Given the description of an element on the screen output the (x, y) to click on. 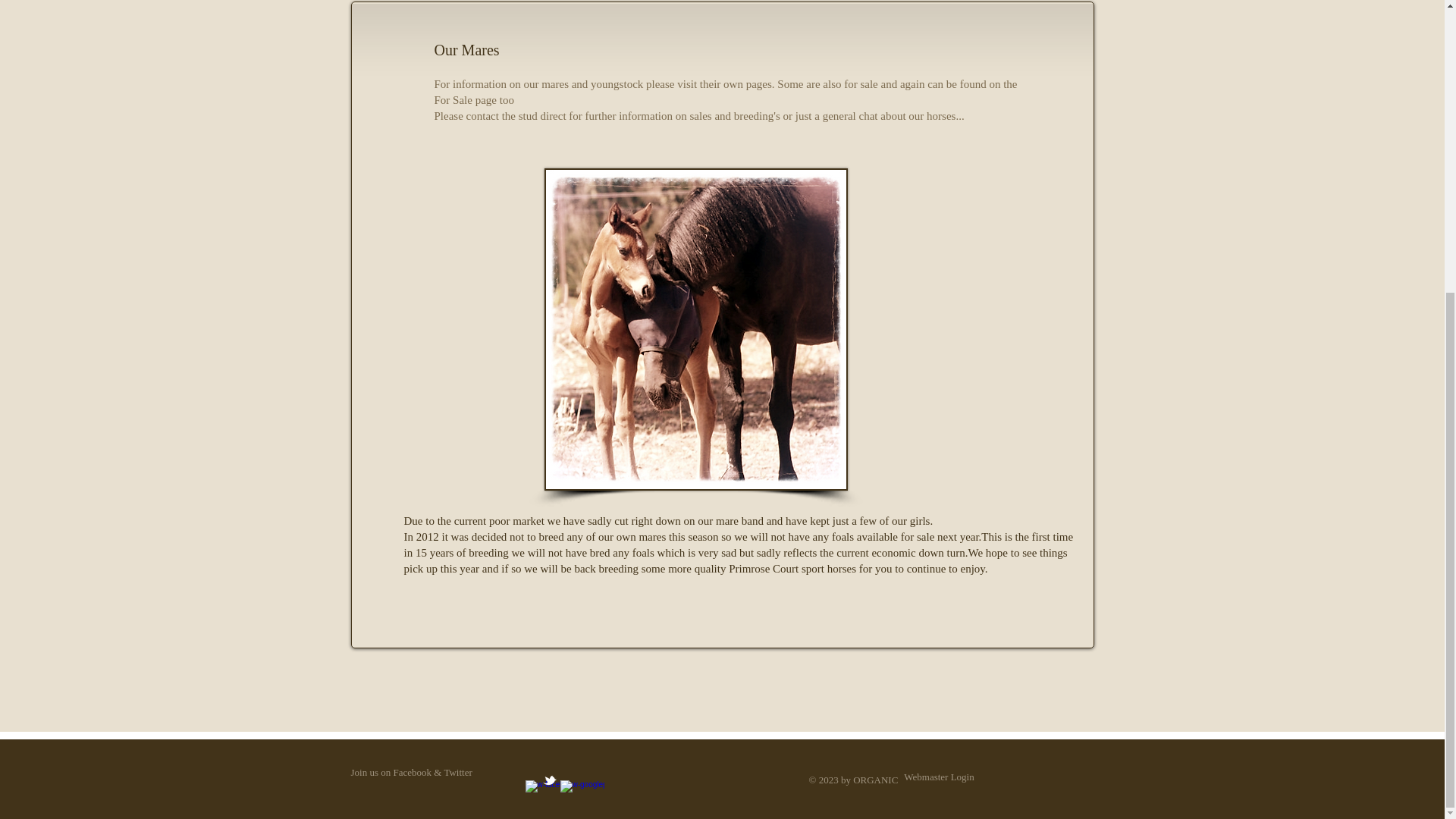
Webmaster Login (938, 776)
Facebook Like (452, 633)
